Given the description of an element on the screen output the (x, y) to click on. 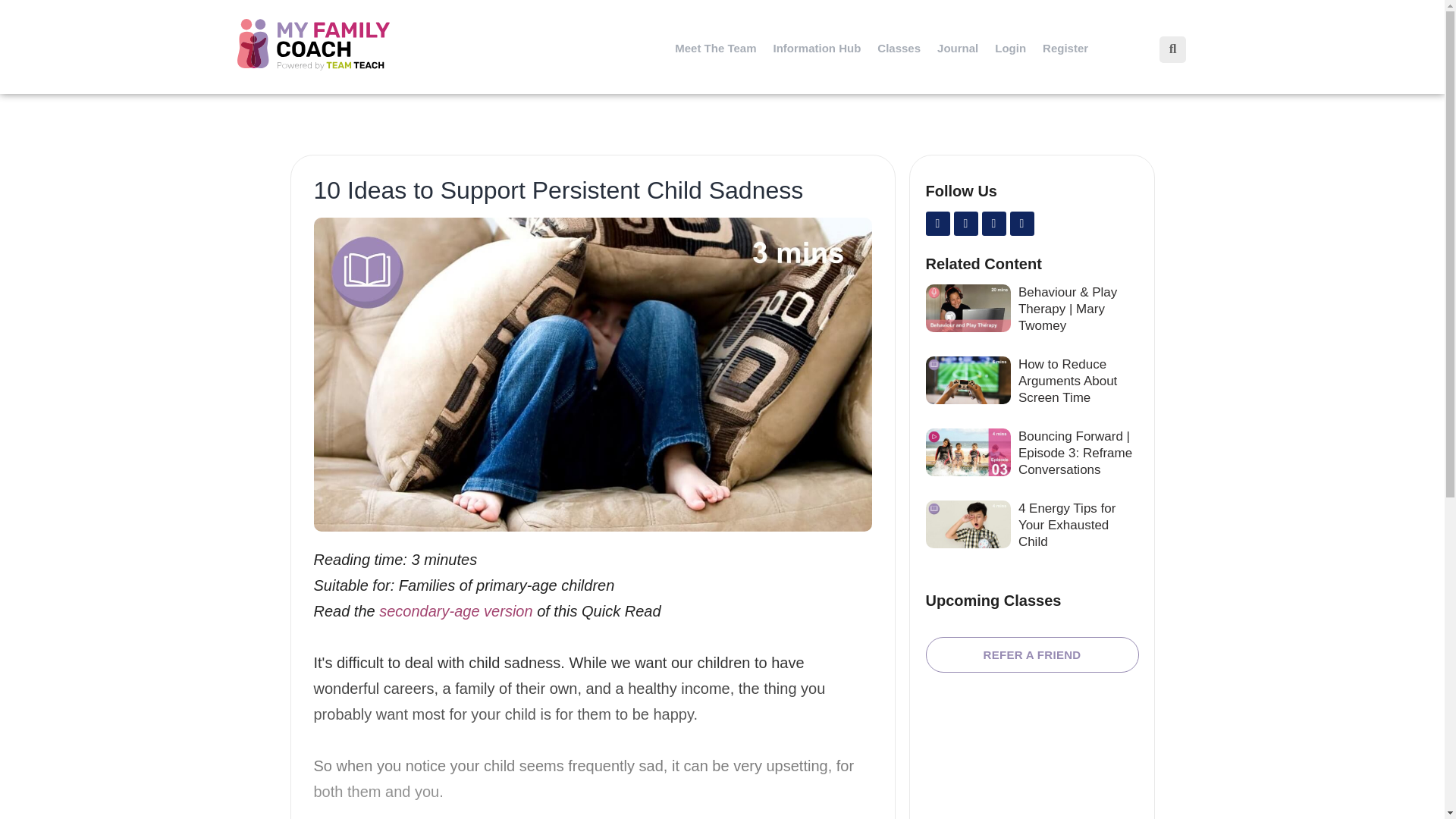
Login (1010, 48)
Journal (957, 48)
Information Hub (817, 48)
Meet The Team (715, 48)
Classes (898, 48)
Register (1064, 48)
